Given the description of an element on the screen output the (x, y) to click on. 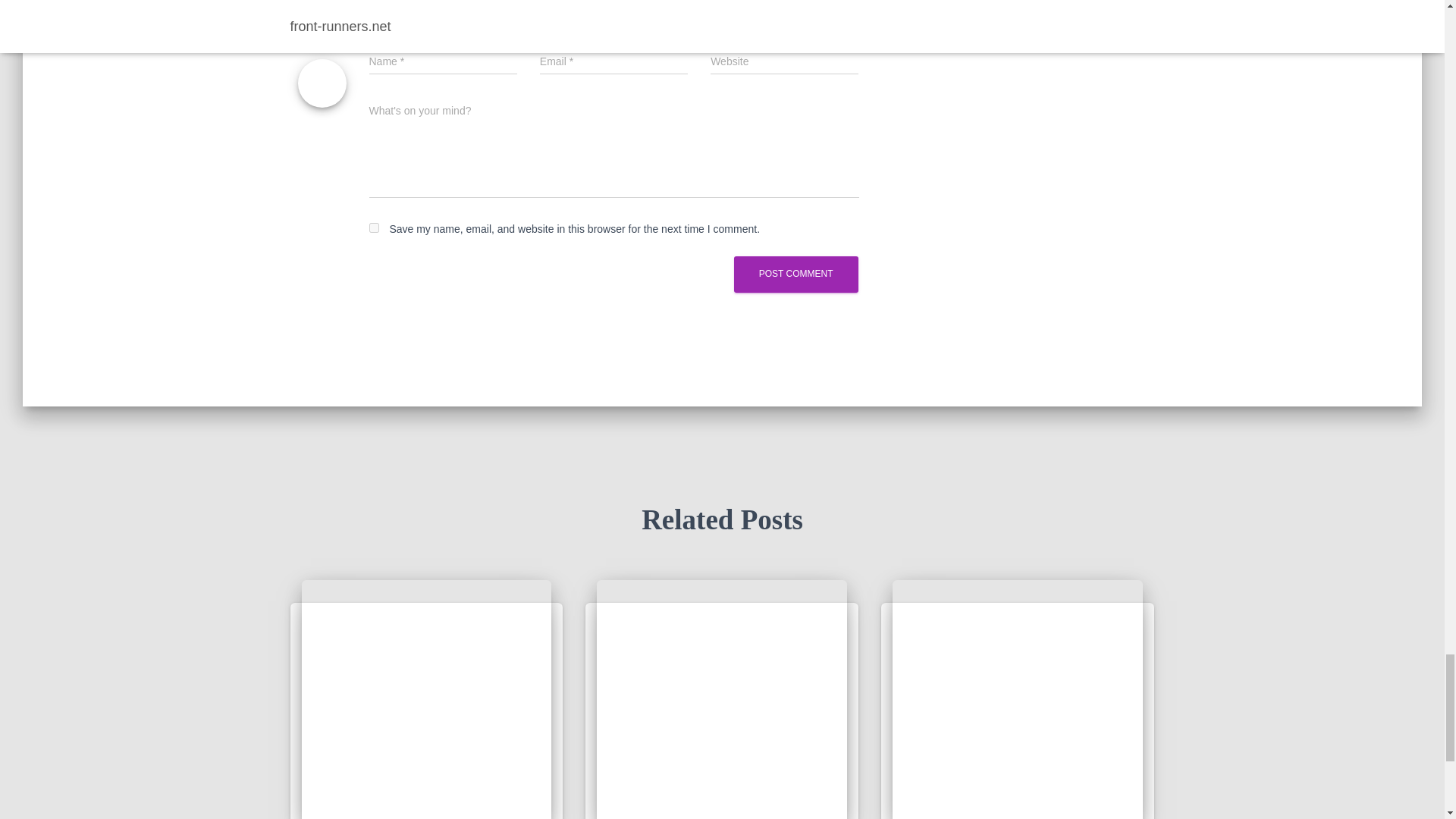
plymouth car 2001 (1017, 699)
plymouth gtx car price (426, 699)
yes (373, 227)
Post Comment (796, 273)
1970s plymouth cars 4 door (721, 699)
Post Comment (796, 273)
